Given the description of an element on the screen output the (x, y) to click on. 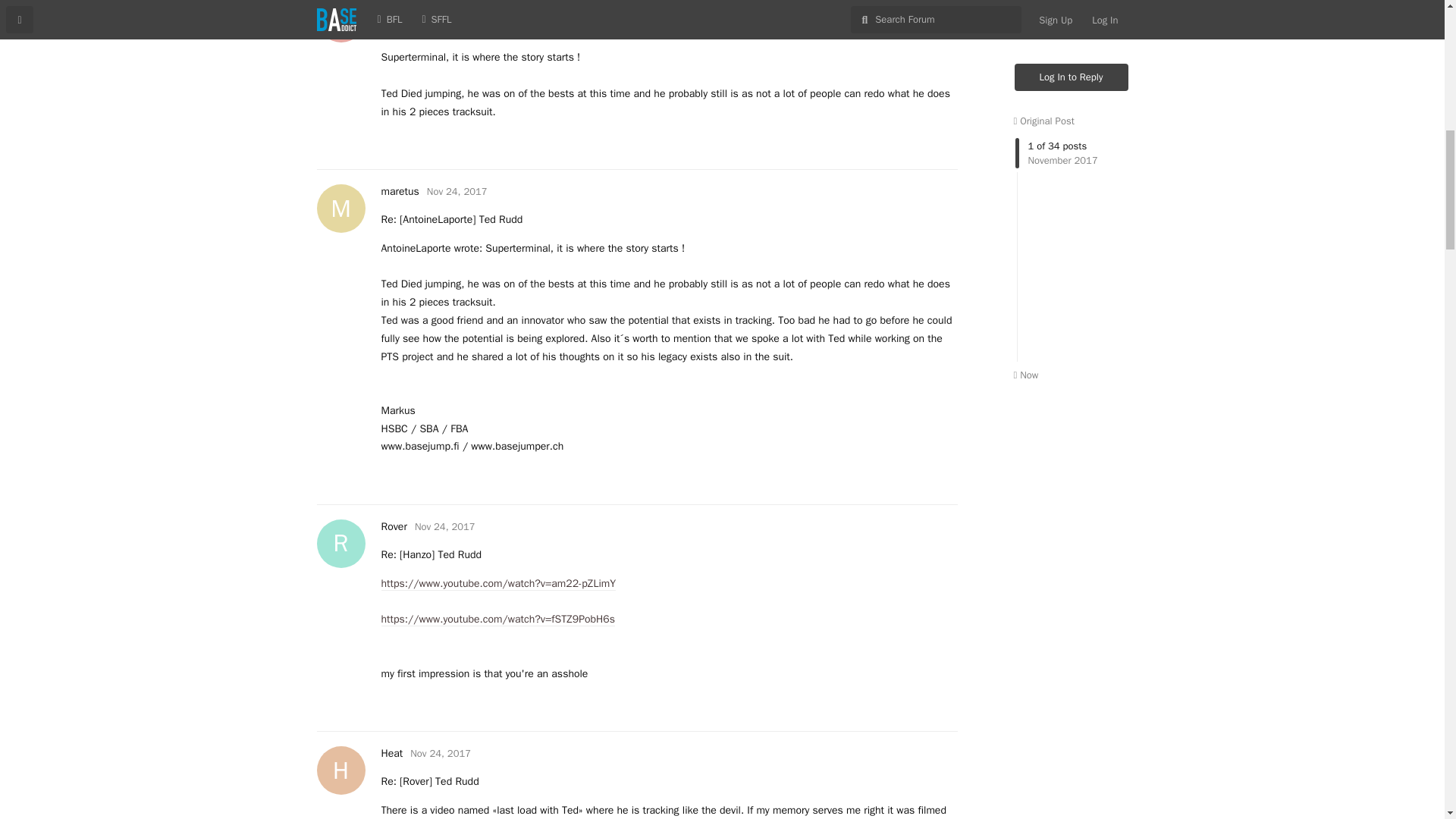
Friday, November 24, 2017 7:38 AM (414, 3)
Nov 23, 2017 (456, 191)
Thursday, November 23, 2017 11:13 AM (488, 3)
Friday, November 24, 2017 8:44 PM (488, 3)
Friday, November 24, 2017 9:09 PM (445, 526)
